Given the description of an element on the screen output the (x, y) to click on. 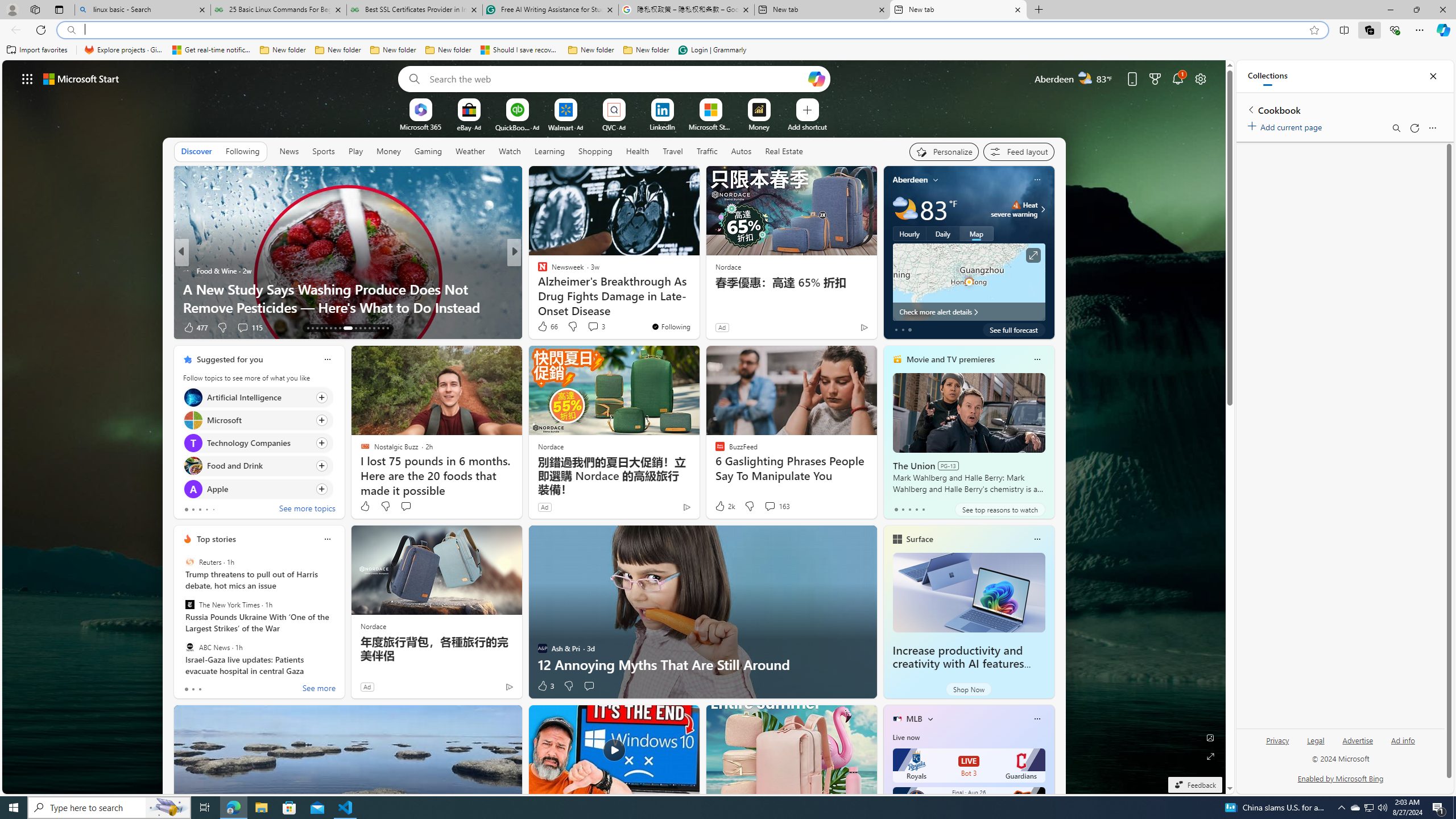
View comments 2 Comment (589, 327)
Click to follow topic Artificial Intelligence (257, 397)
AutomationID: tab-26 (374, 328)
Legal (1315, 740)
Click to follow topic Technology Companies (257, 442)
Start the conversation (588, 685)
View comments 3 Comment (592, 326)
Traffic (706, 151)
